Given the description of an element on the screen output the (x, y) to click on. 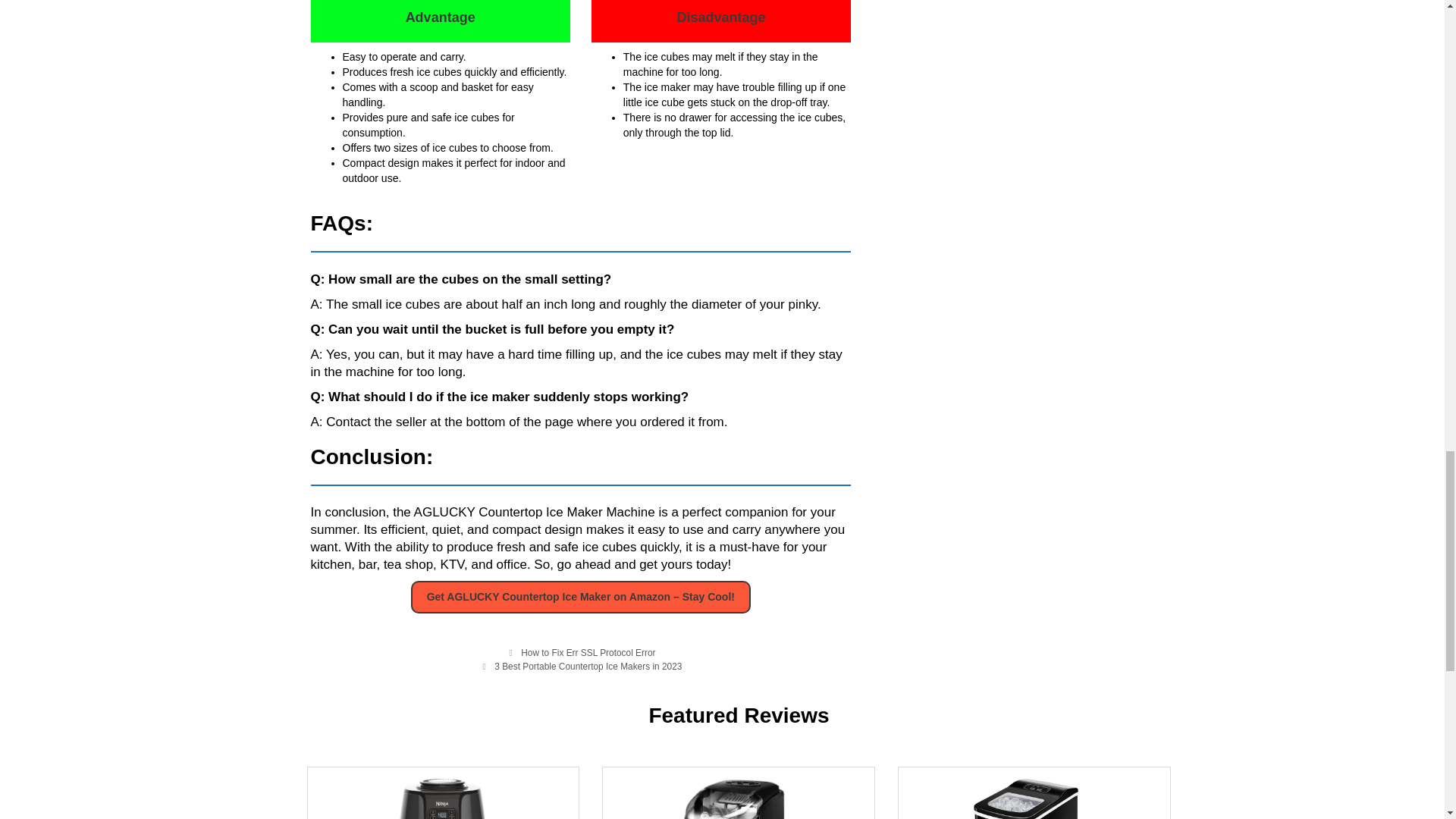
How to Fix Err SSL Protocol Error (588, 652)
3 Best Portable Countertop Ice Makers in 2023 (588, 665)
